Given the description of an element on the screen output the (x, y) to click on. 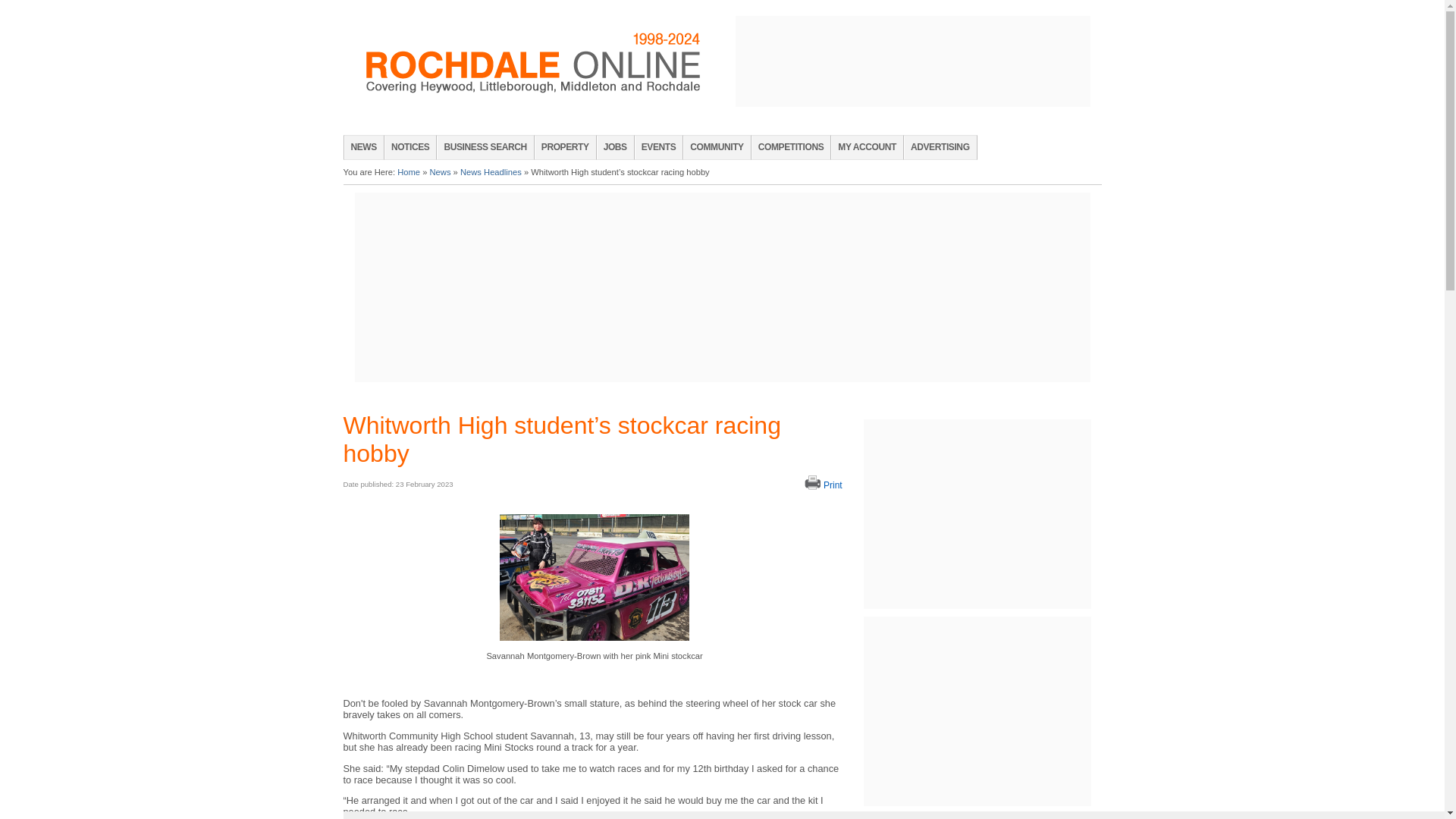
BUSINESS SEARCH (484, 146)
NOTICES (410, 146)
NEWS (363, 146)
Savannah Montgomery-Brown with her pink Mini stockcar (593, 576)
JOBS (614, 146)
COMMUNITY (715, 146)
PROPERTY (564, 146)
EVENTS (658, 146)
Rochdale Online  Logo (531, 62)
